Given the description of an element on the screen output the (x, y) to click on. 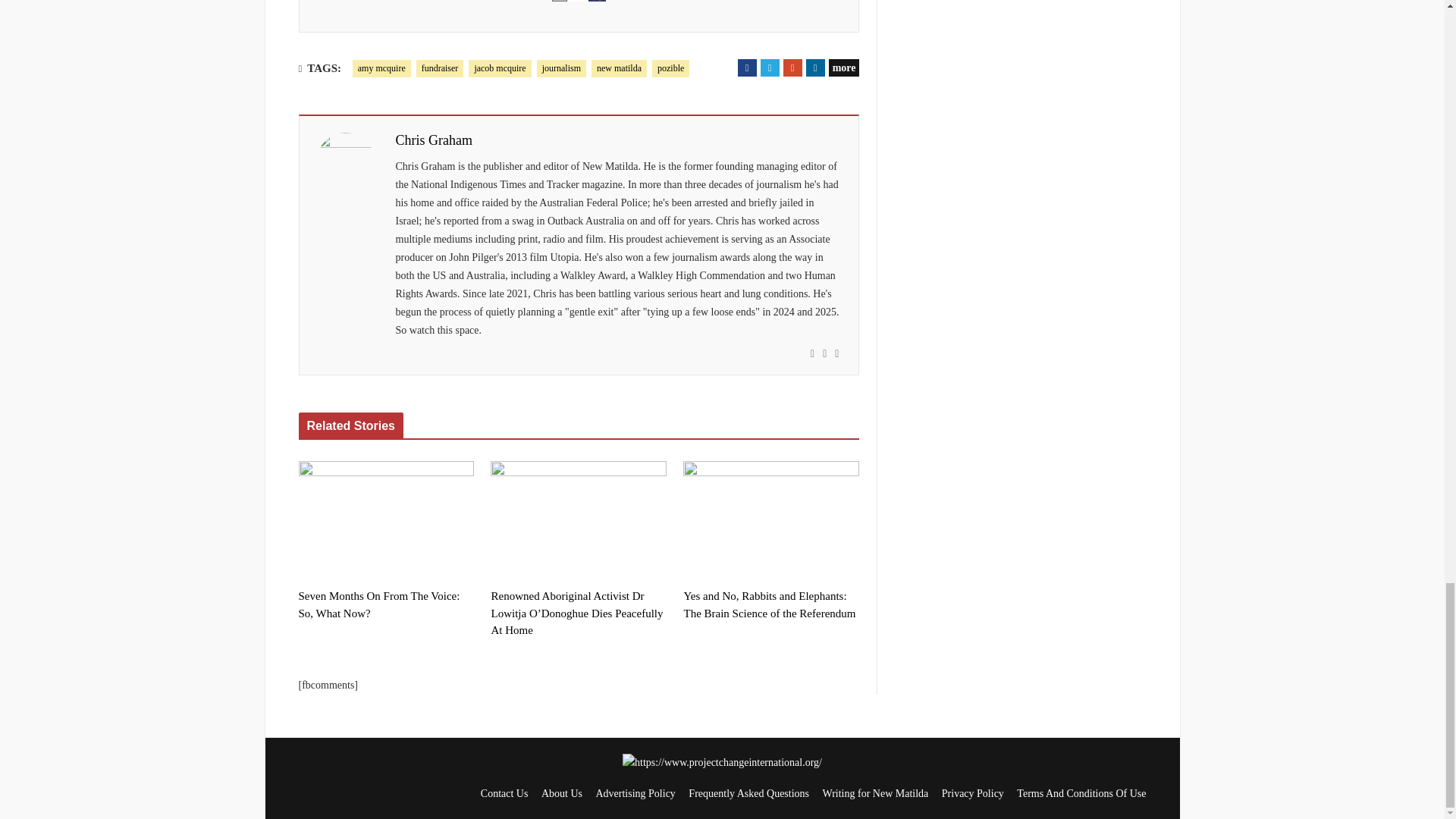
Facebook (747, 67)
Seven Months On From The Voice: So, What Now? (386, 519)
pozible (670, 67)
Twitter (769, 67)
Share on Facebook (747, 67)
Tweet It (769, 67)
LinkedIn (815, 67)
amy mcquire (381, 67)
fundraiser (440, 67)
more (844, 67)
